Given the description of an element on the screen output the (x, y) to click on. 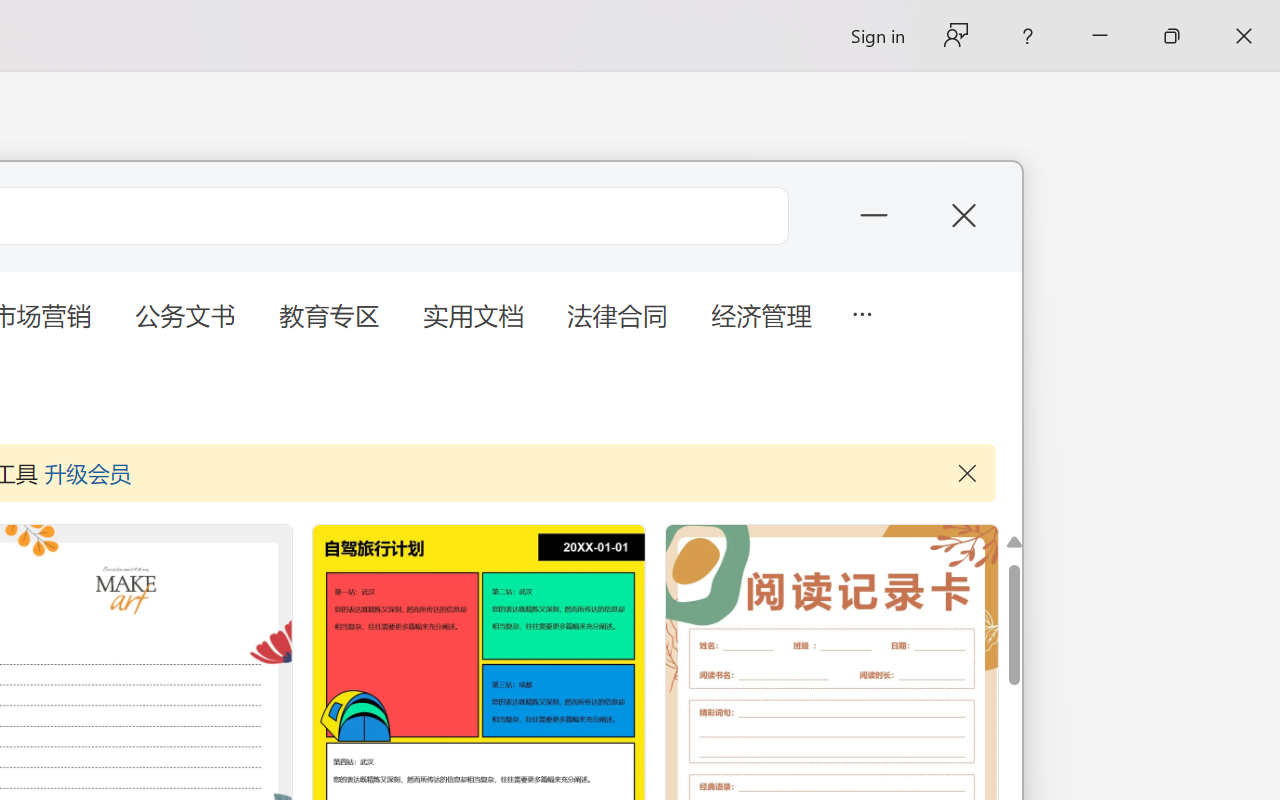
Sign in (875, 35)
5 more tabs (861, 312)
